Given the description of an element on the screen output the (x, y) to click on. 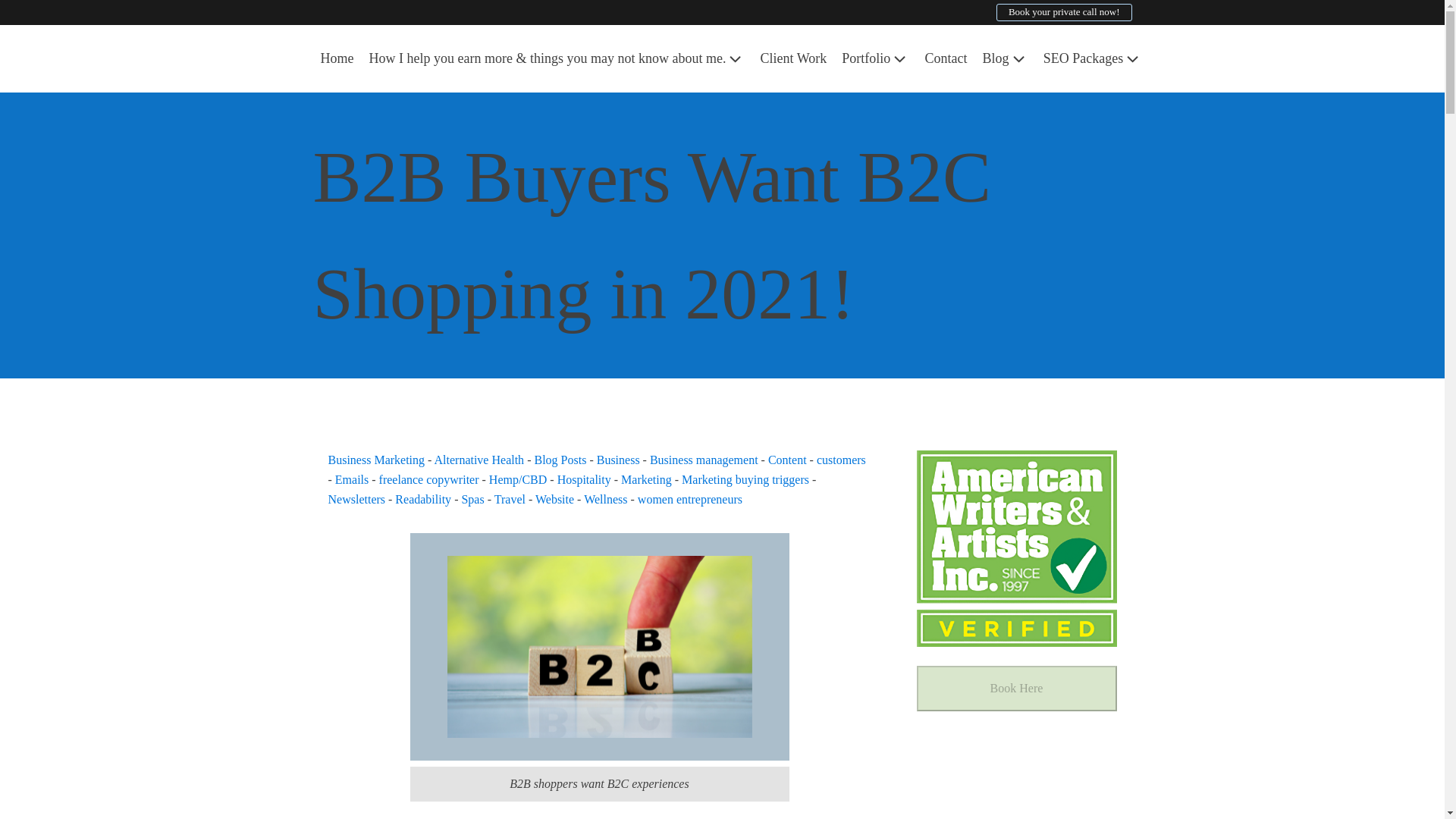
Readability (422, 499)
Portfolio (875, 58)
Marketing (646, 479)
Website (554, 499)
Business (618, 459)
Book your private call now! (1063, 12)
Blog (1005, 58)
Business management (703, 459)
SEO Packages (1092, 58)
Business Marketing (376, 459)
